Given the description of an element on the screen output the (x, y) to click on. 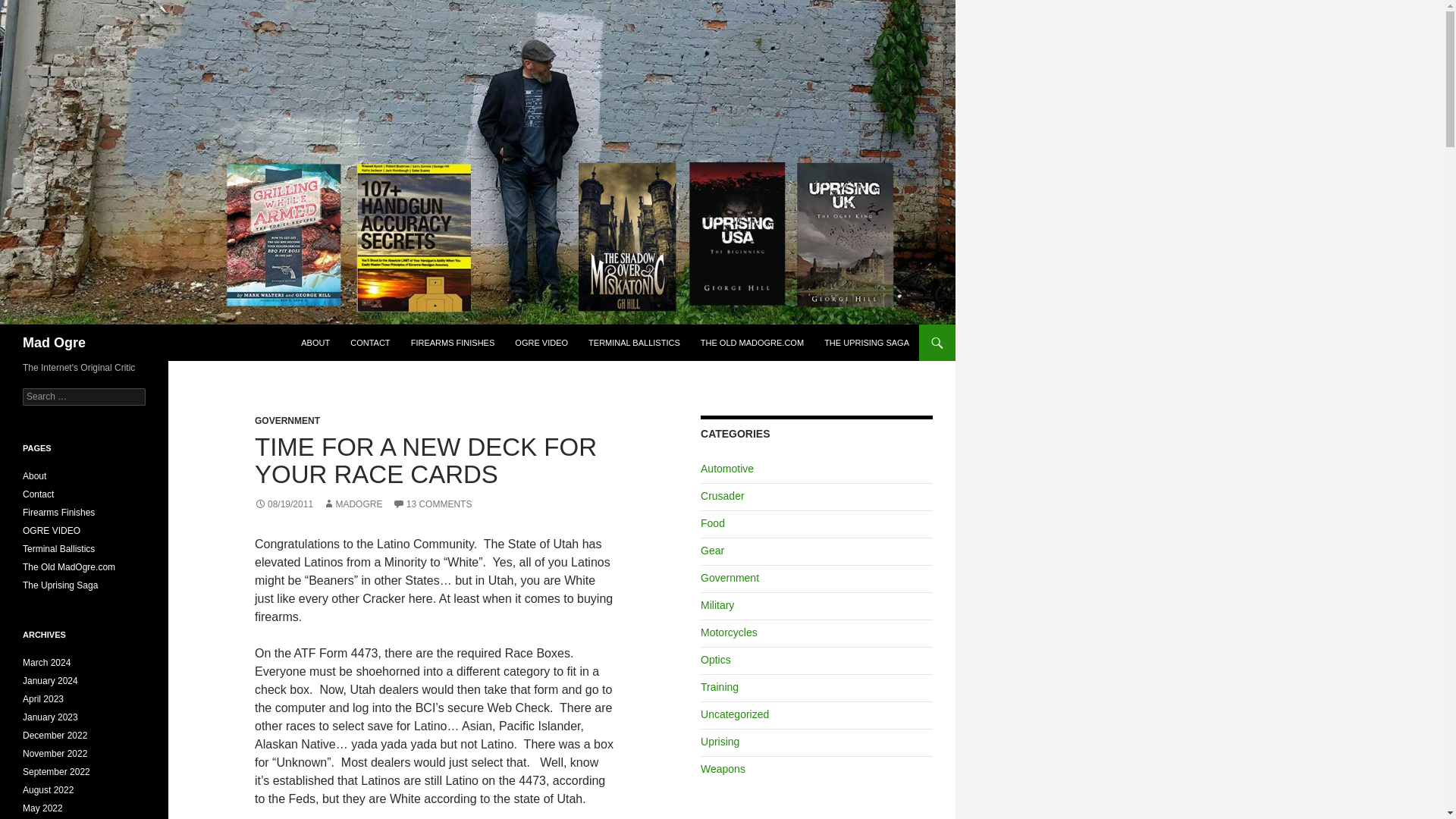
TERMINAL BALLISTICS (633, 342)
ABOUT (315, 342)
THE OLD MADOGRE.COM (751, 342)
Mad Ogre (54, 342)
FIREARMS FINISHES (452, 342)
CONTACT (369, 342)
13 COMMENTS (432, 503)
OGRE VIDEO (540, 342)
GOVERNMENT (287, 420)
MADOGRE (352, 503)
THE UPRISING SAGA (866, 342)
